Given the description of an element on the screen output the (x, y) to click on. 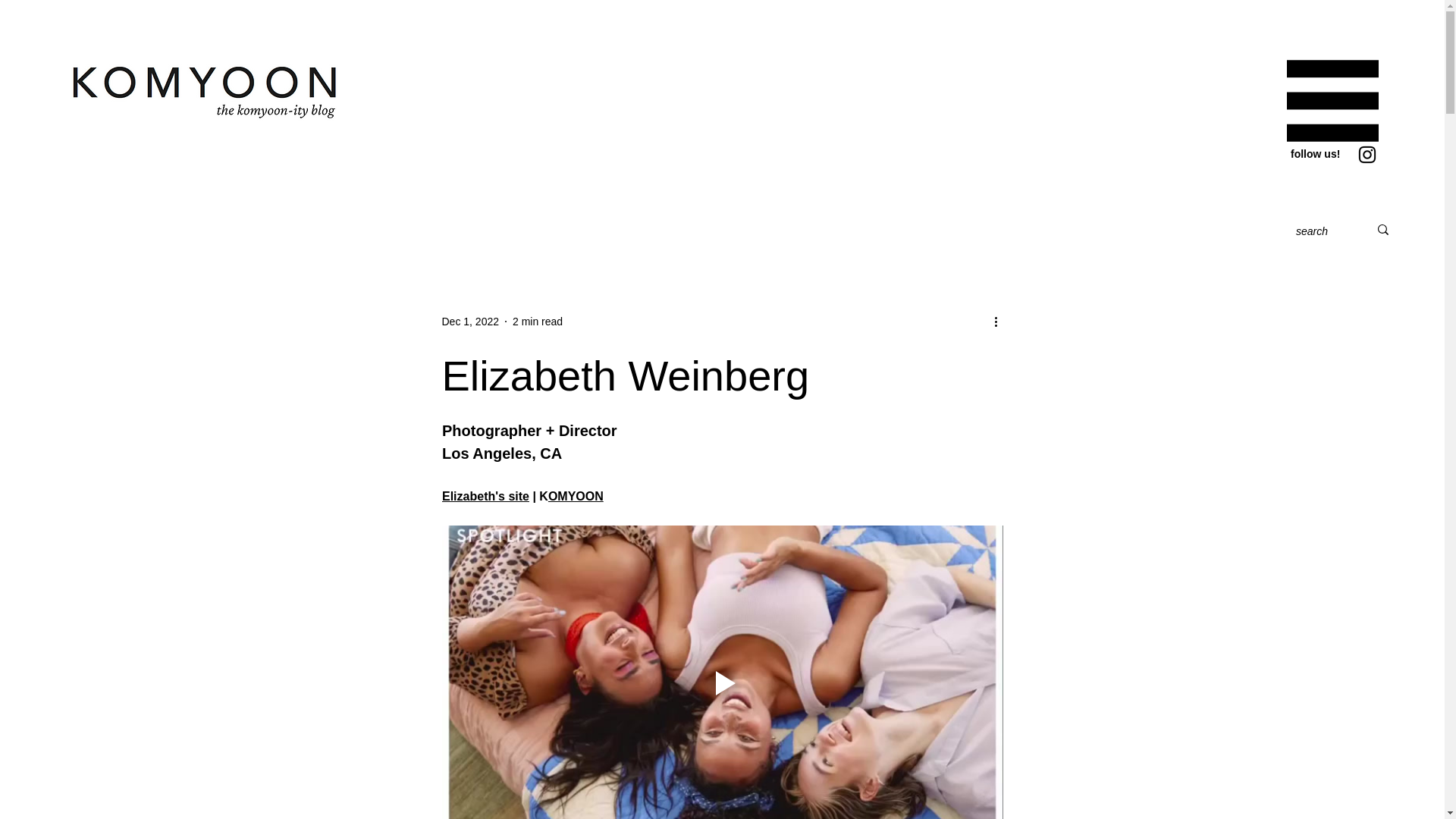
OMYOON (574, 495)
Dec 1, 2022 (470, 321)
Elizabeth's site (484, 495)
2 min read (537, 321)
